Given the description of an element on the screen output the (x, y) to click on. 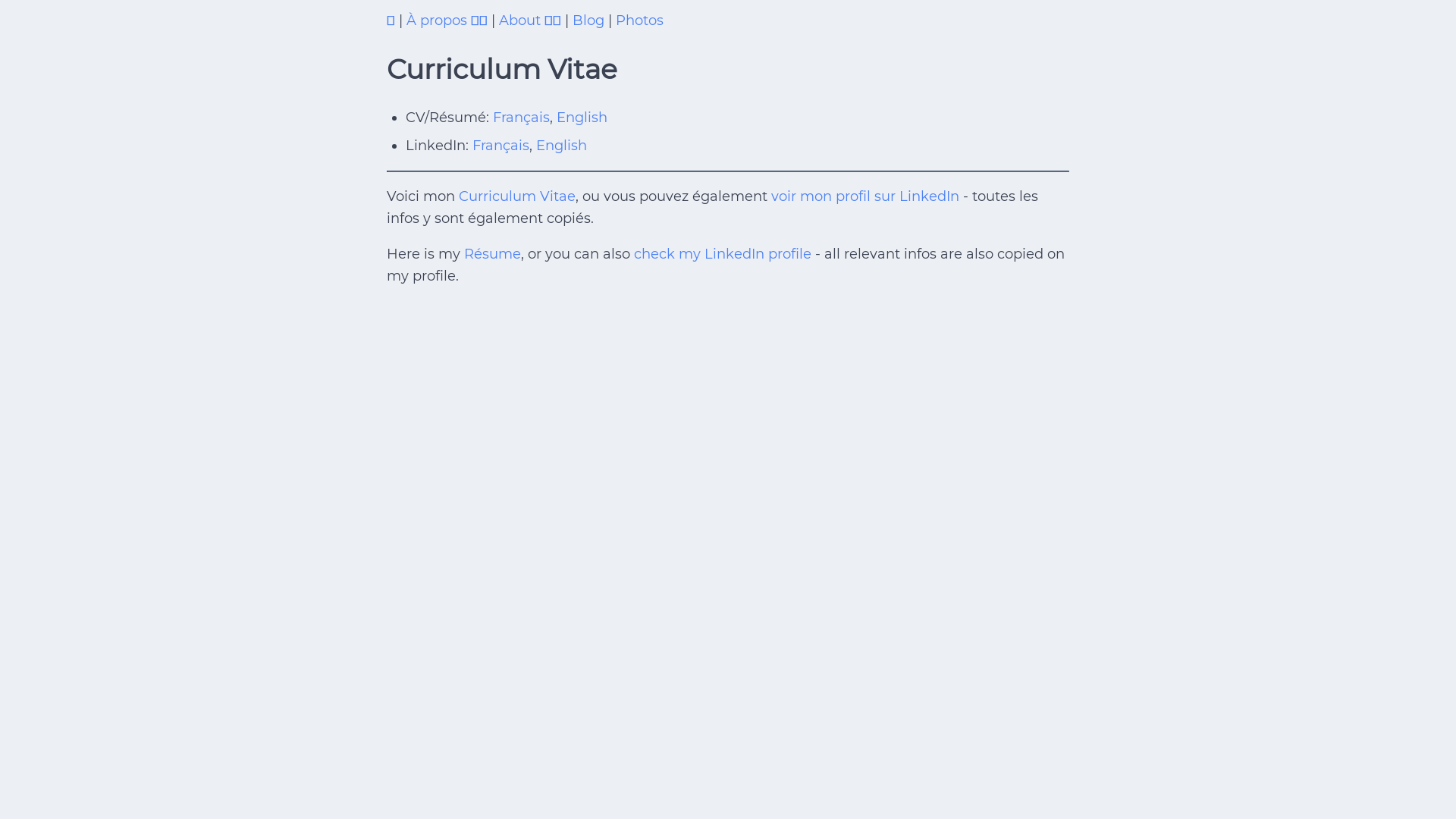
Photos Element type: text (639, 20)
English Element type: text (561, 145)
voir mon profil sur LinkedIn Element type: text (865, 196)
check my LinkedIn profile Element type: text (722, 253)
English Element type: text (581, 117)
Curriculum Vitae Element type: text (516, 196)
Blog Element type: text (590, 20)
